Given the description of an element on the screen output the (x, y) to click on. 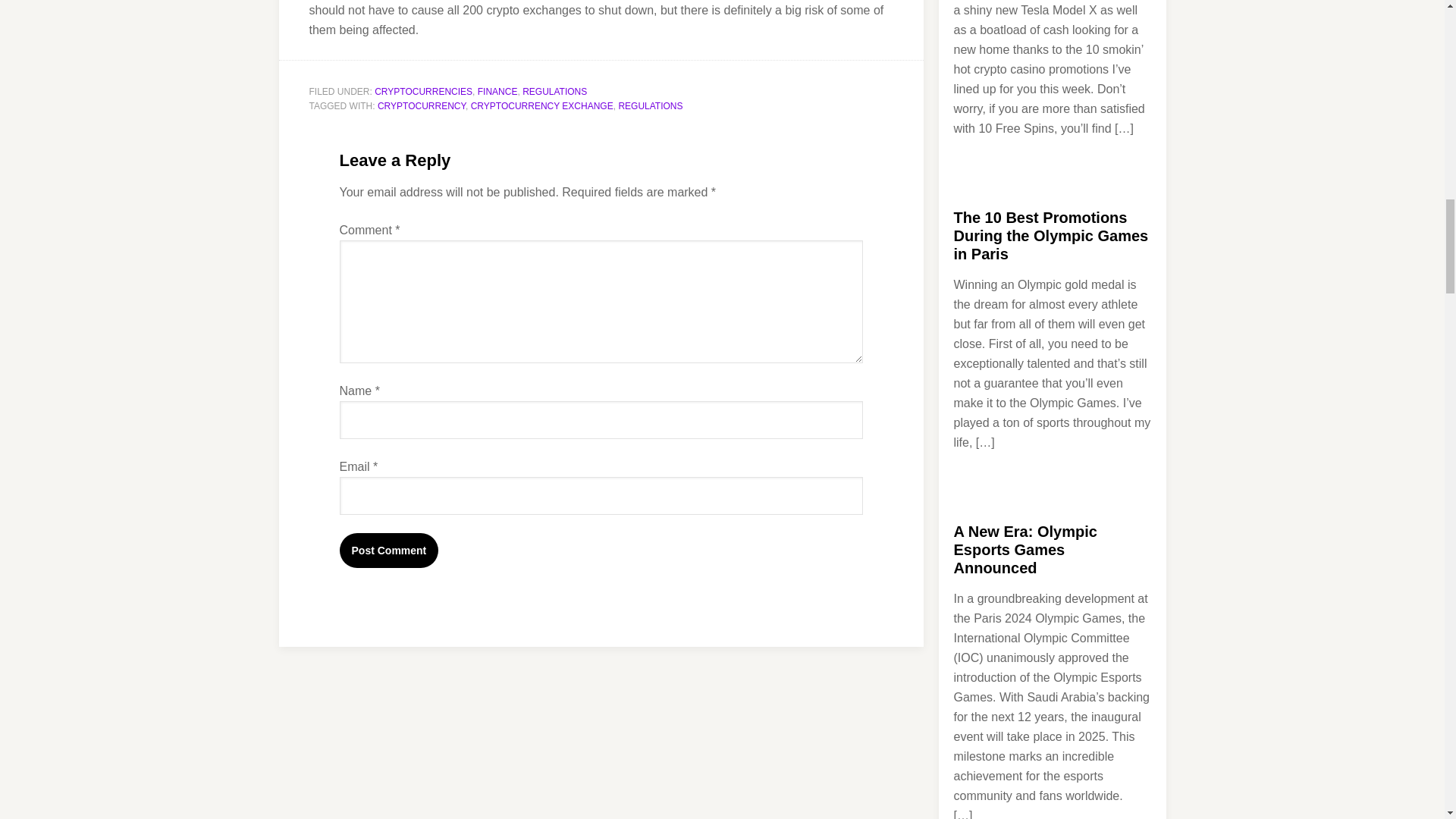
Post Comment (389, 550)
